Given the description of an element on the screen output the (x, y) to click on. 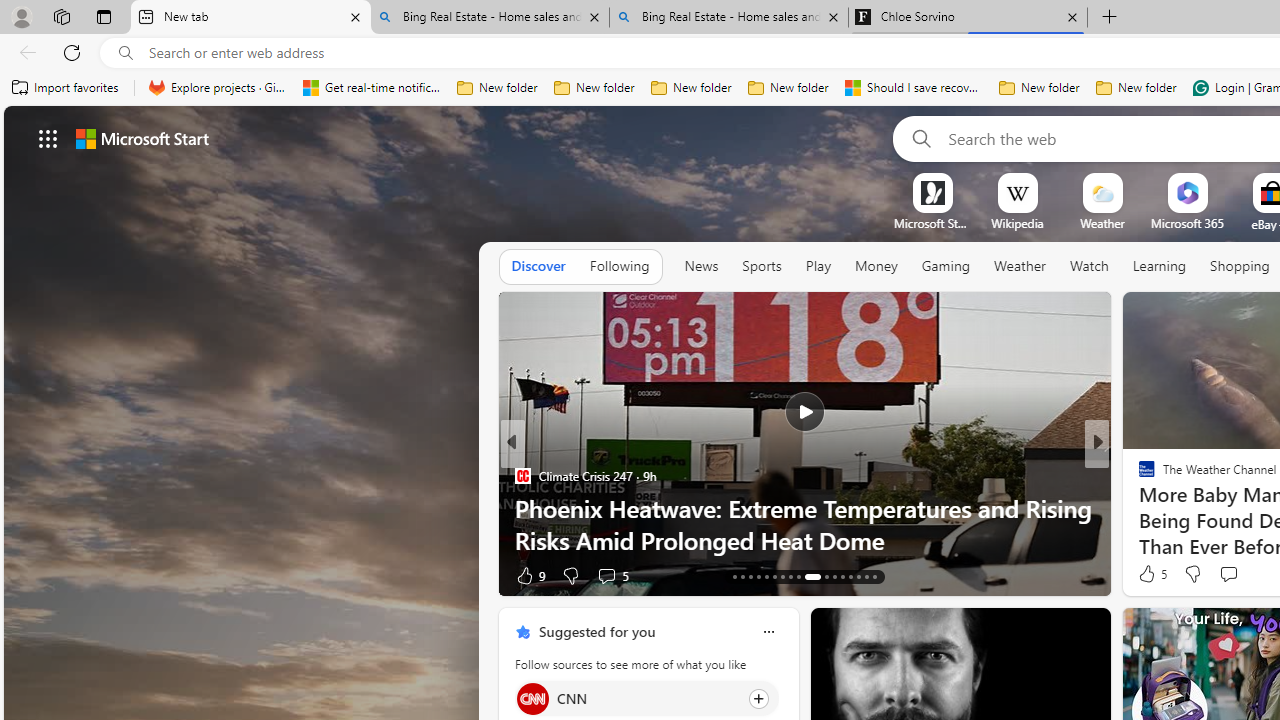
AutomationID: tab-41 (865, 576)
View comments 5 Comment (1241, 574)
AutomationID: tab-42 (874, 576)
AutomationID: tab-19 (782, 576)
View comments 42 Comment (11, 575)
AutomationID: tab-13 (733, 576)
SlashGear (1138, 475)
Microsoft start (142, 138)
Suggested for you (596, 631)
